Given the description of an element on the screen output the (x, y) to click on. 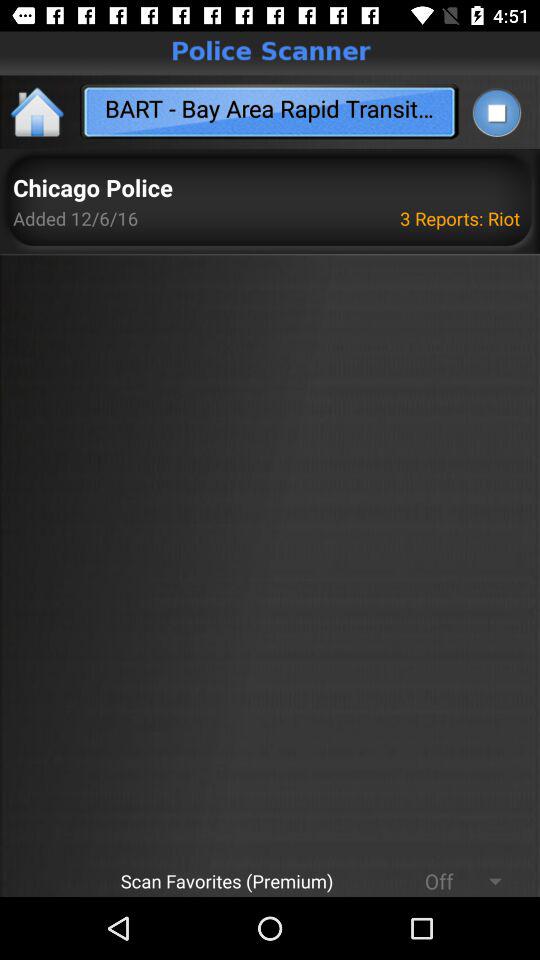
turn off the icon to the right of the chicago police app (463, 218)
